Given the description of an element on the screen output the (x, y) to click on. 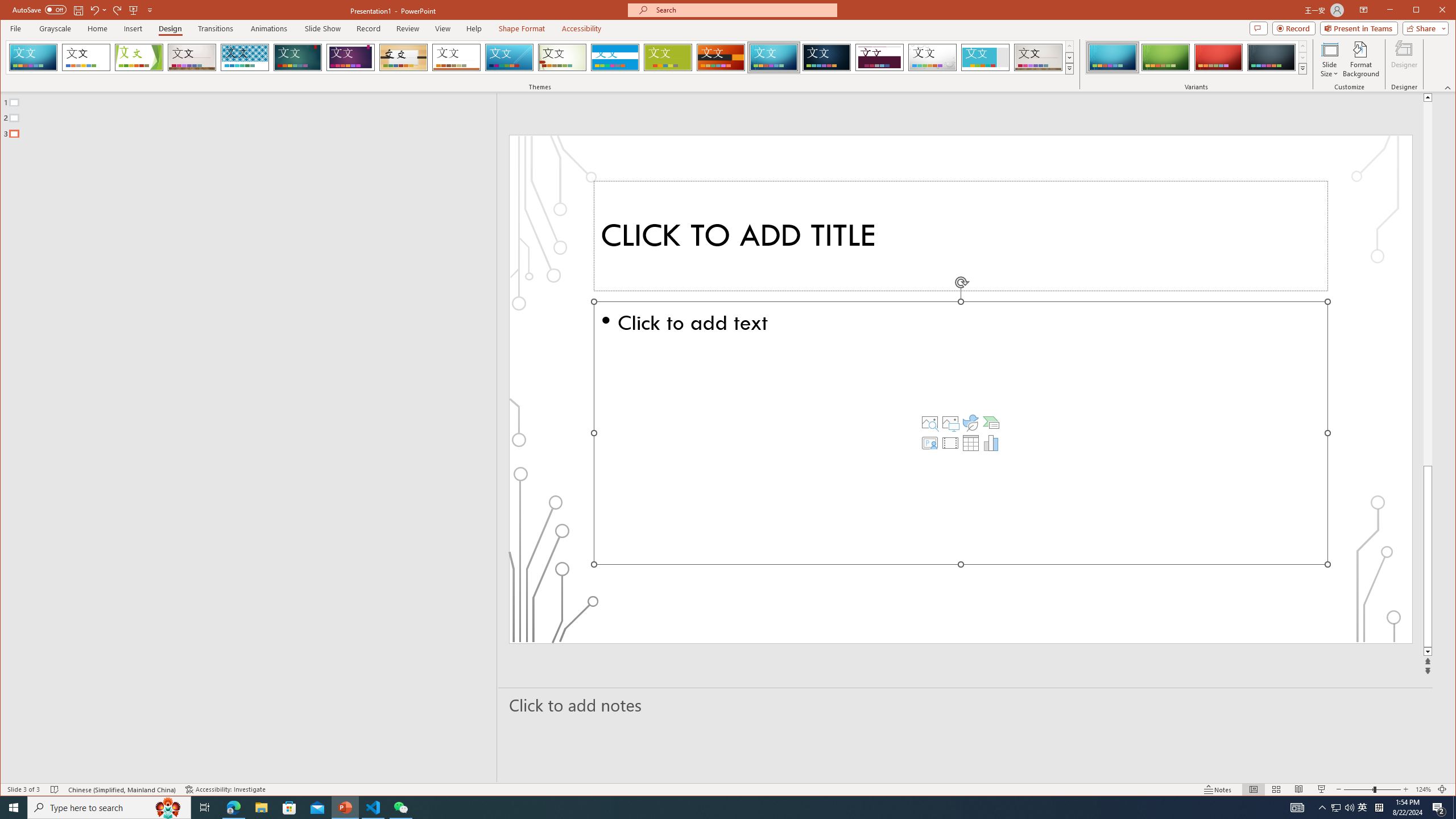
Ion Boardroom (350, 57)
Insert an Icon (970, 422)
Frame (985, 57)
Stock Images (929, 422)
Circuit (773, 57)
Circuit Variant 4 (1270, 57)
AutomationID: ThemeVariantsGallery (1196, 57)
